Given the description of an element on the screen output the (x, y) to click on. 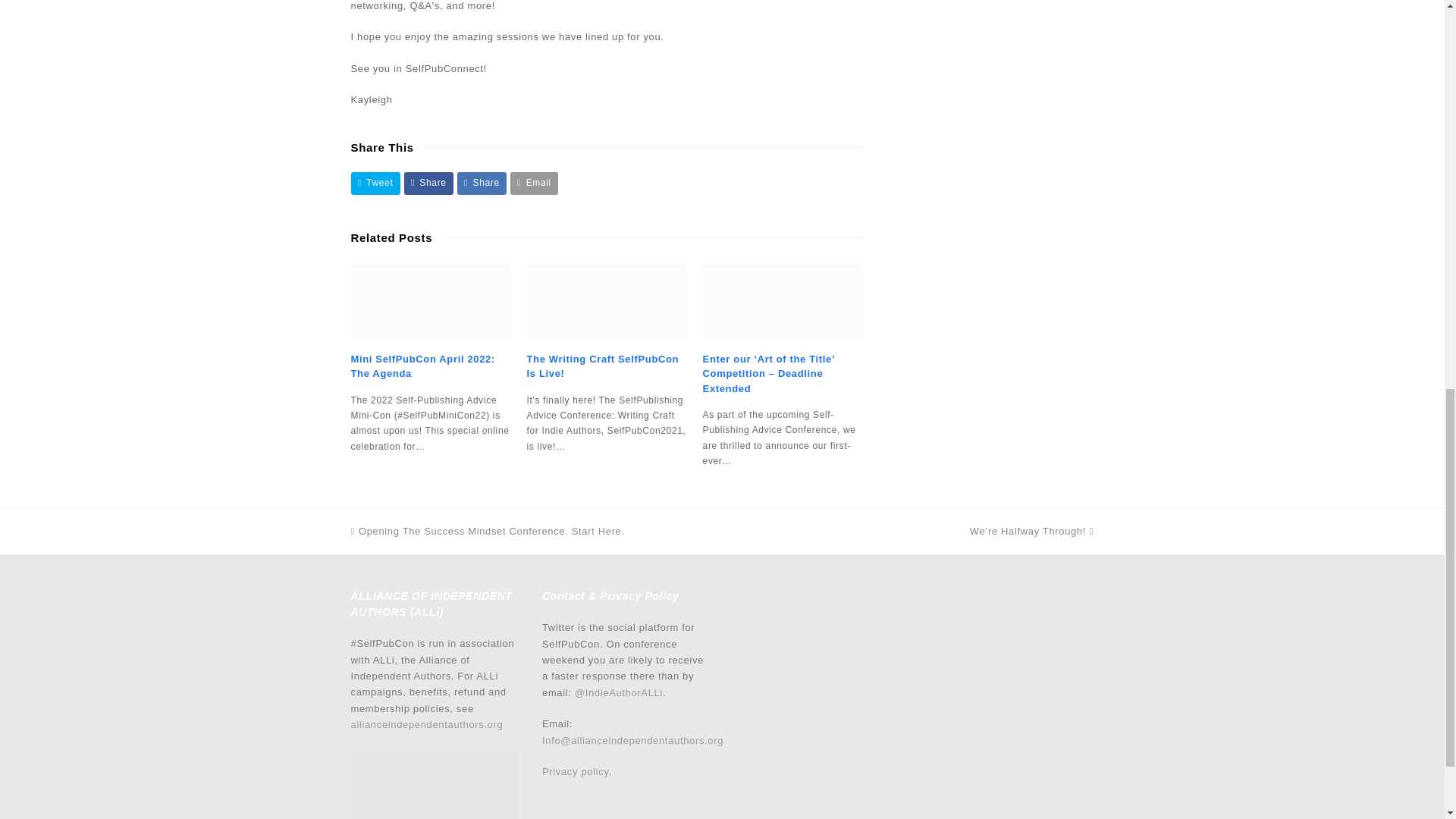
Tweet (374, 182)
The Writing Craft SelfPubCon Is Live! (607, 300)
Mini SelfPubCon April 2022: The Agenda (430, 300)
Share (428, 182)
Share (481, 182)
